Given the description of an element on the screen output the (x, y) to click on. 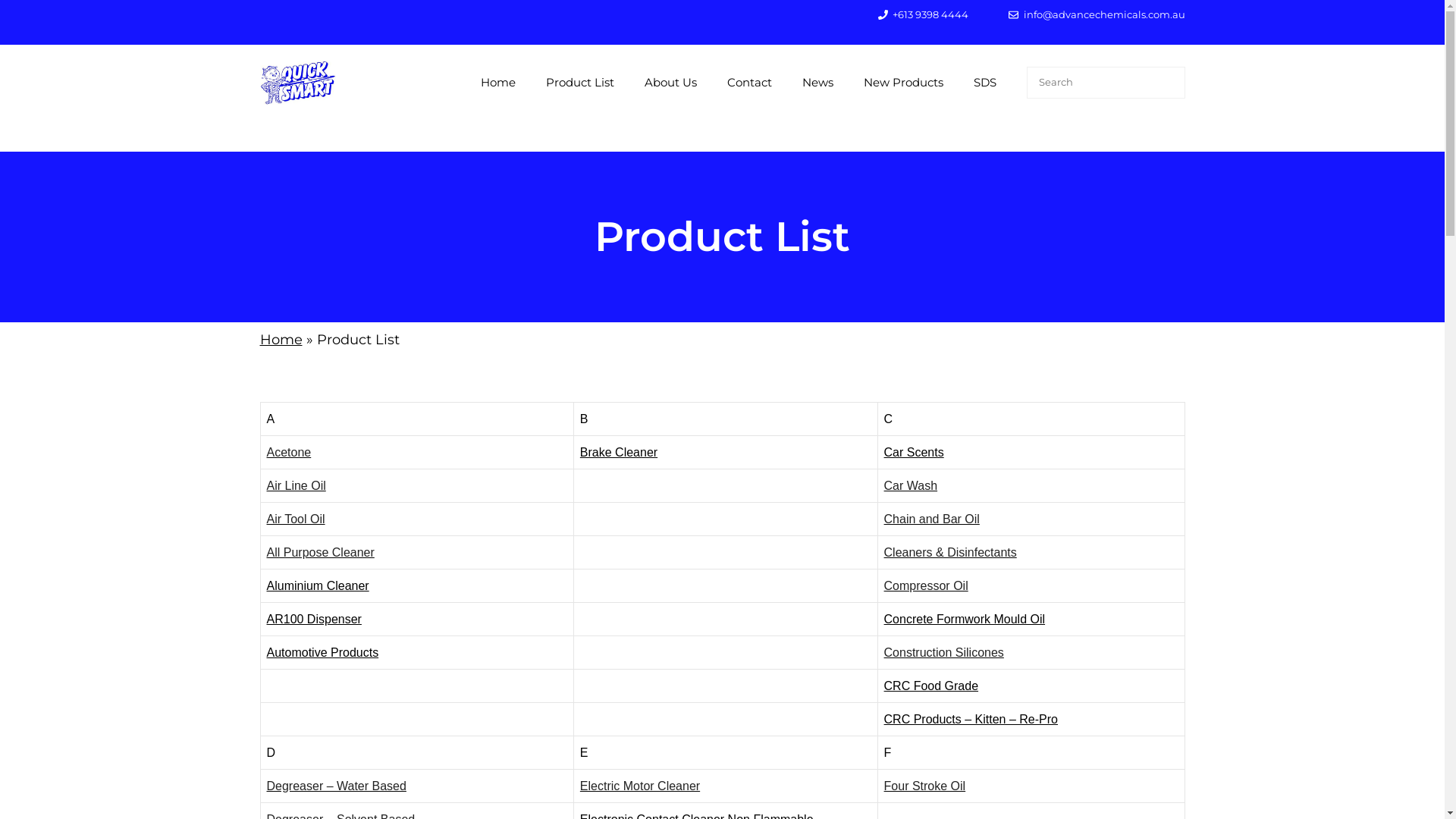
Air Line Oil Element type: text (296, 484)
AR100 Dispenser Element type: text (313, 618)
Compressor Oil Element type: text (926, 585)
All Purpose Cleaner Element type: text (320, 551)
Concrete Formwork Mould Oil Element type: text (964, 618)
Acetone Element type: text (288, 451)
Contact Element type: text (748, 82)
Automotive Products Element type: text (322, 652)
Construction Silicones Element type: text (944, 651)
Electric Motor Cleaner Element type: text (639, 785)
About Us Element type: text (670, 82)
Aluminium Cleaner Element type: text (317, 585)
Car Scents Element type: text (914, 451)
News Element type: text (817, 82)
Cleaners & Disinfectants Element type: text (950, 551)
Four Stroke Oil Element type: text (925, 785)
Car Wash Element type: text (911, 484)
CRC Food Grade Element type: text (931, 685)
Home Element type: text (497, 82)
Home Element type: text (280, 339)
Product List Element type: text (579, 82)
Air Tool Oil Element type: text (295, 518)
Brake Cleaner Element type: text (618, 451)
SDS Element type: text (984, 82)
Chain and Bar Oil Element type: text (931, 518)
New Products Element type: text (902, 82)
